Given the description of an element on the screen output the (x, y) to click on. 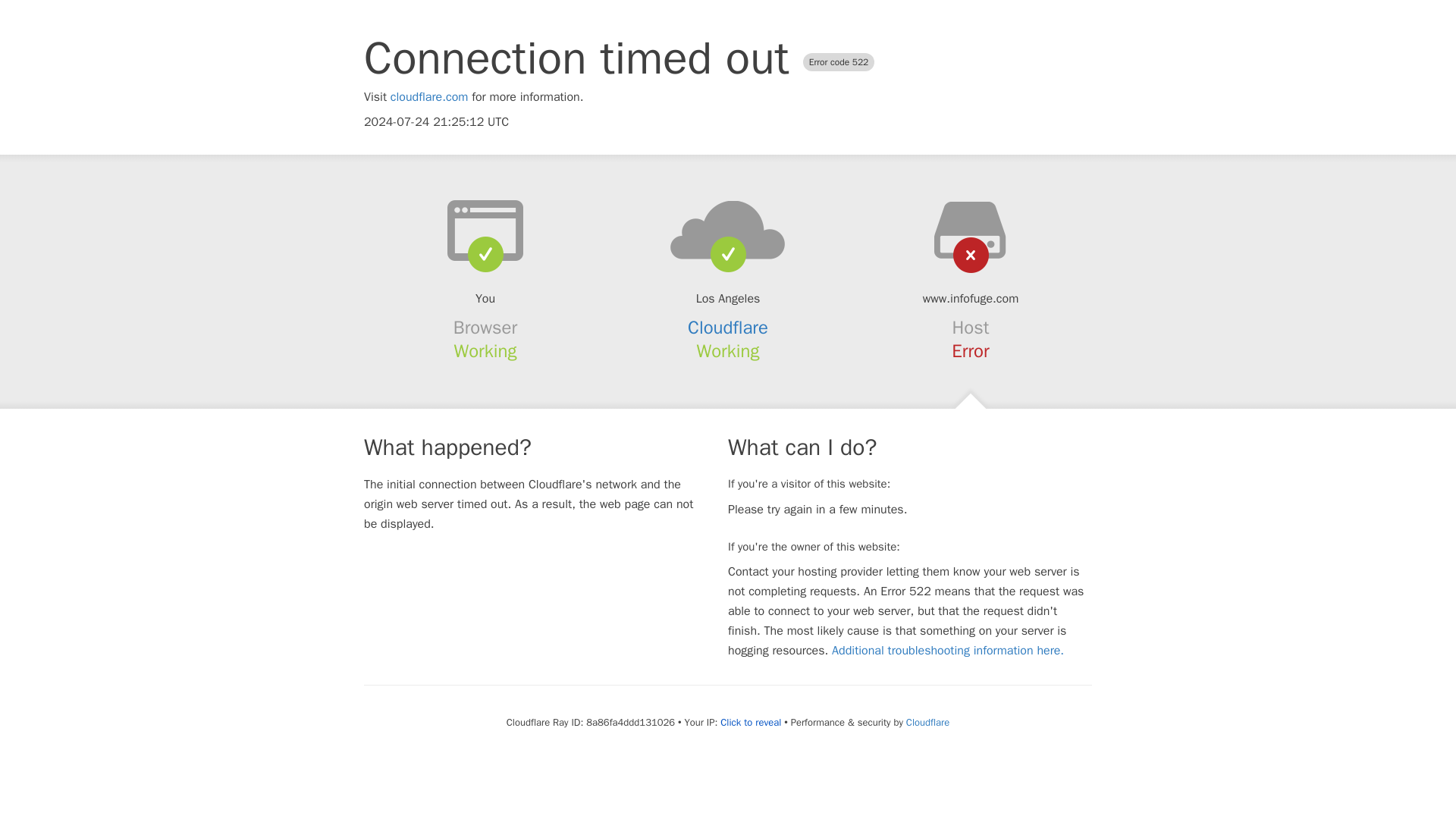
Cloudflare (927, 721)
Click to reveal (750, 722)
cloudflare.com (429, 96)
Cloudflare (727, 327)
Additional troubleshooting information here. (947, 650)
